Given the description of an element on the screen output the (x, y) to click on. 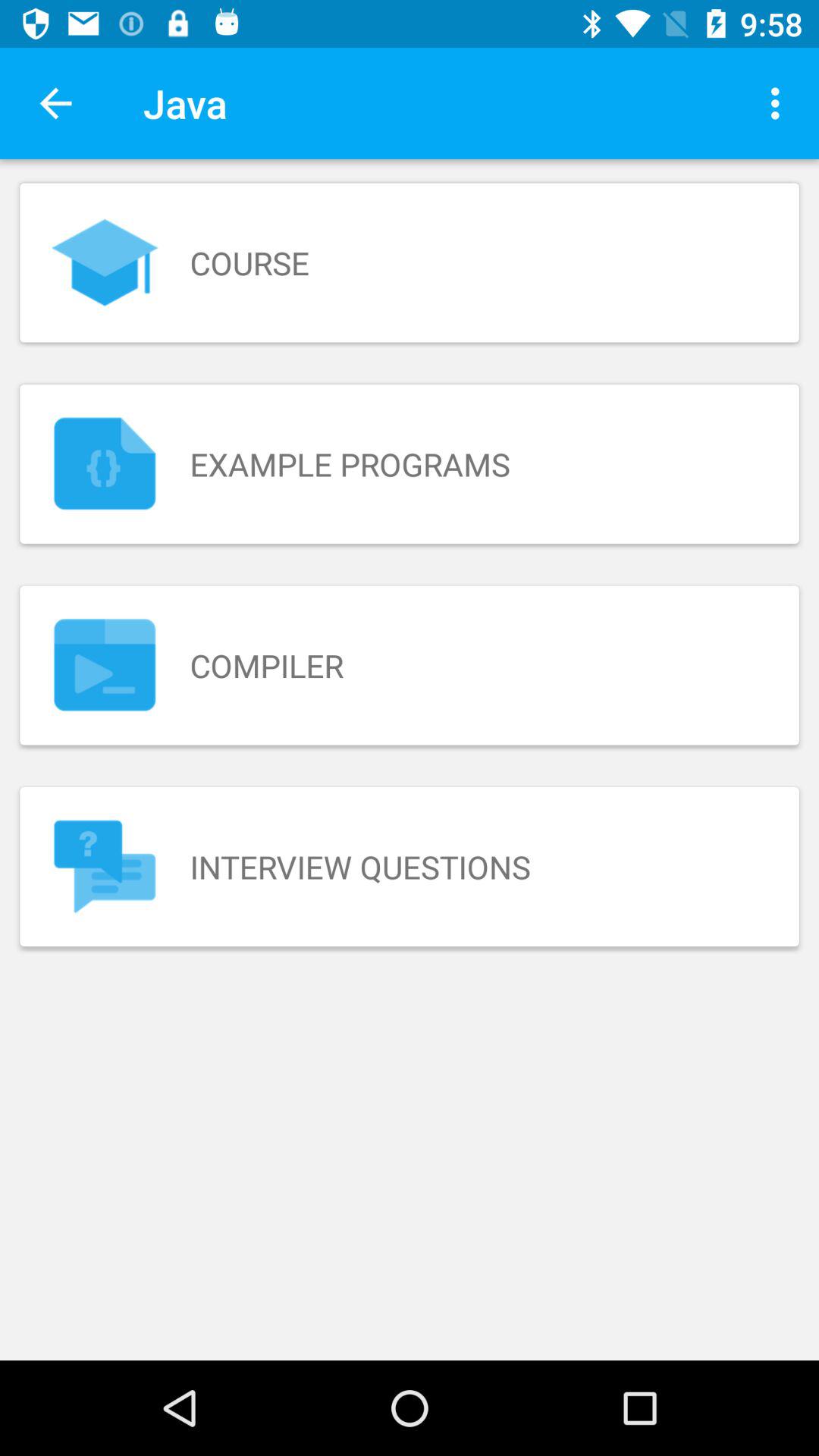
turn on icon next to the java icon (779, 103)
